Given the description of an element on the screen output the (x, y) to click on. 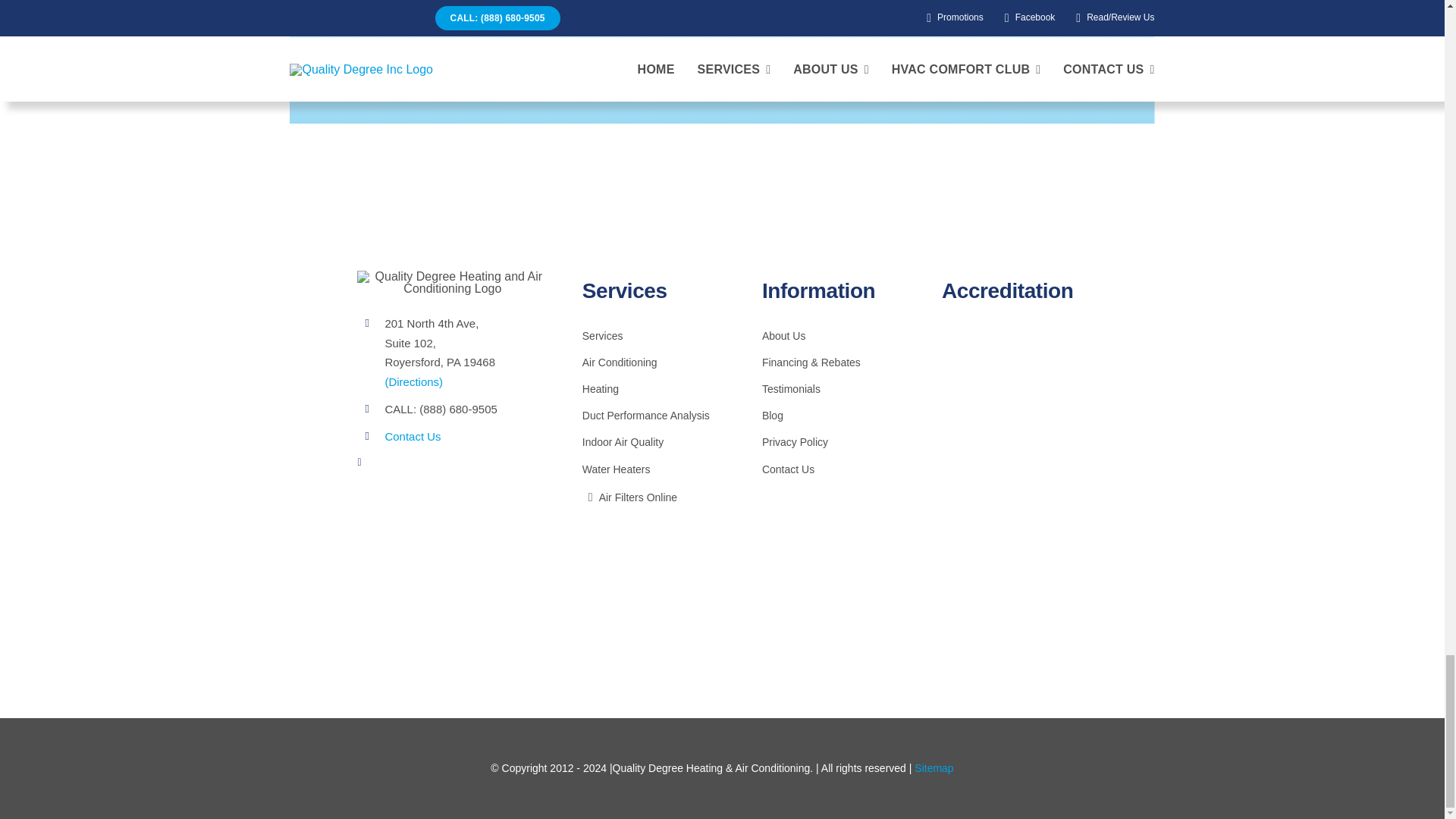
Quality Degree Heating and Air Conditioning Logo (451, 282)
GoogleReviews (1014, 581)
Aeroseal-Color (1014, 505)
lennox-premier-dealer (1014, 451)
centurion-award (1013, 375)
